Given the description of an element on the screen output the (x, y) to click on. 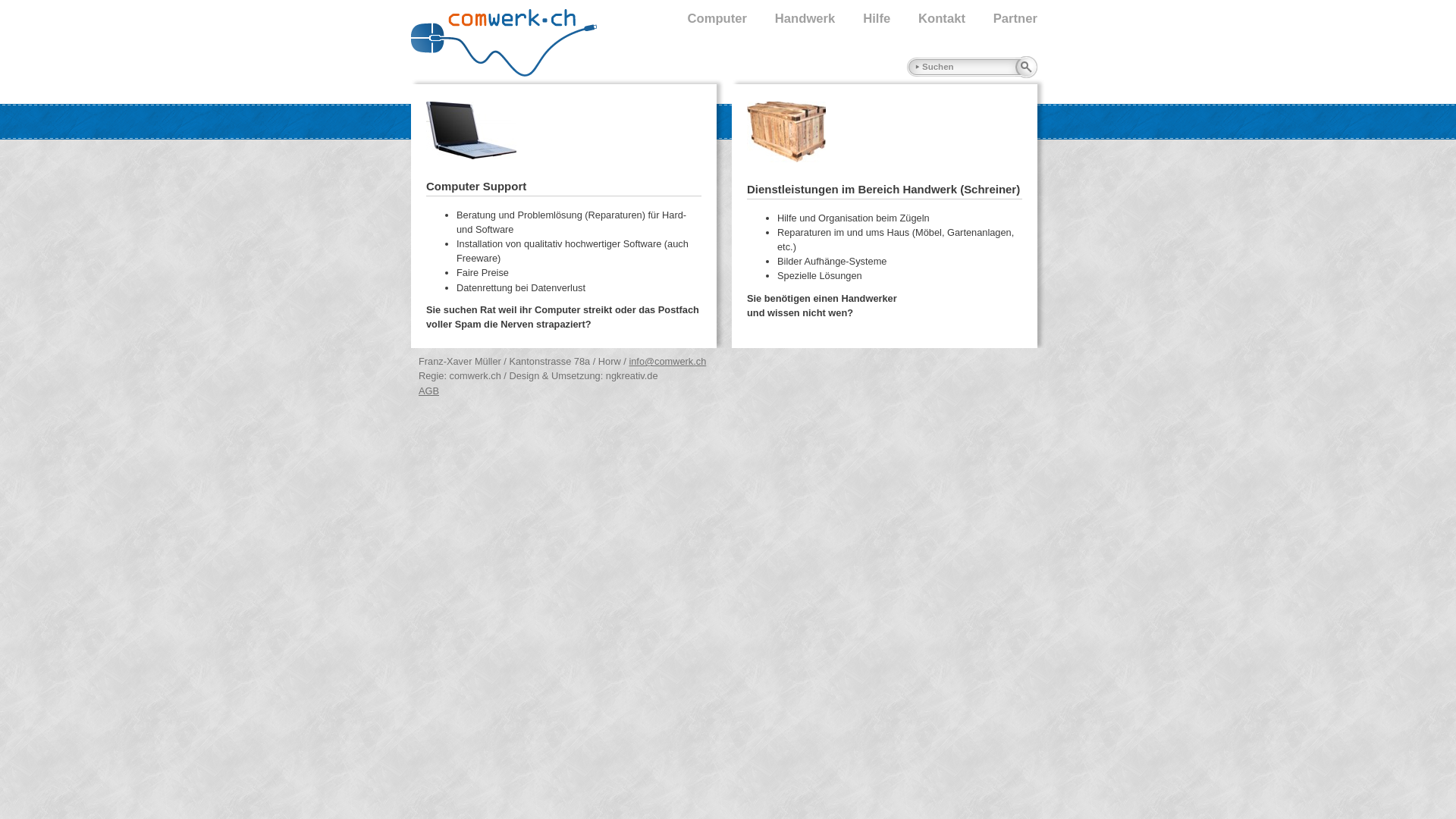
AGB Element type: text (428, 390)
info@comwerk.ch Element type: text (667, 361)
Computer Element type: text (704, 18)
Hilfe Element type: text (863, 18)
Partner Element type: text (1002, 18)
Handwerk Element type: text (792, 18)
Kontakt Element type: text (929, 18)
Dienstleistungen im Bereich Handwerk (Schreiner) Element type: text (882, 188)
Computer Support Element type: text (476, 185)
